Given the description of an element on the screen output the (x, y) to click on. 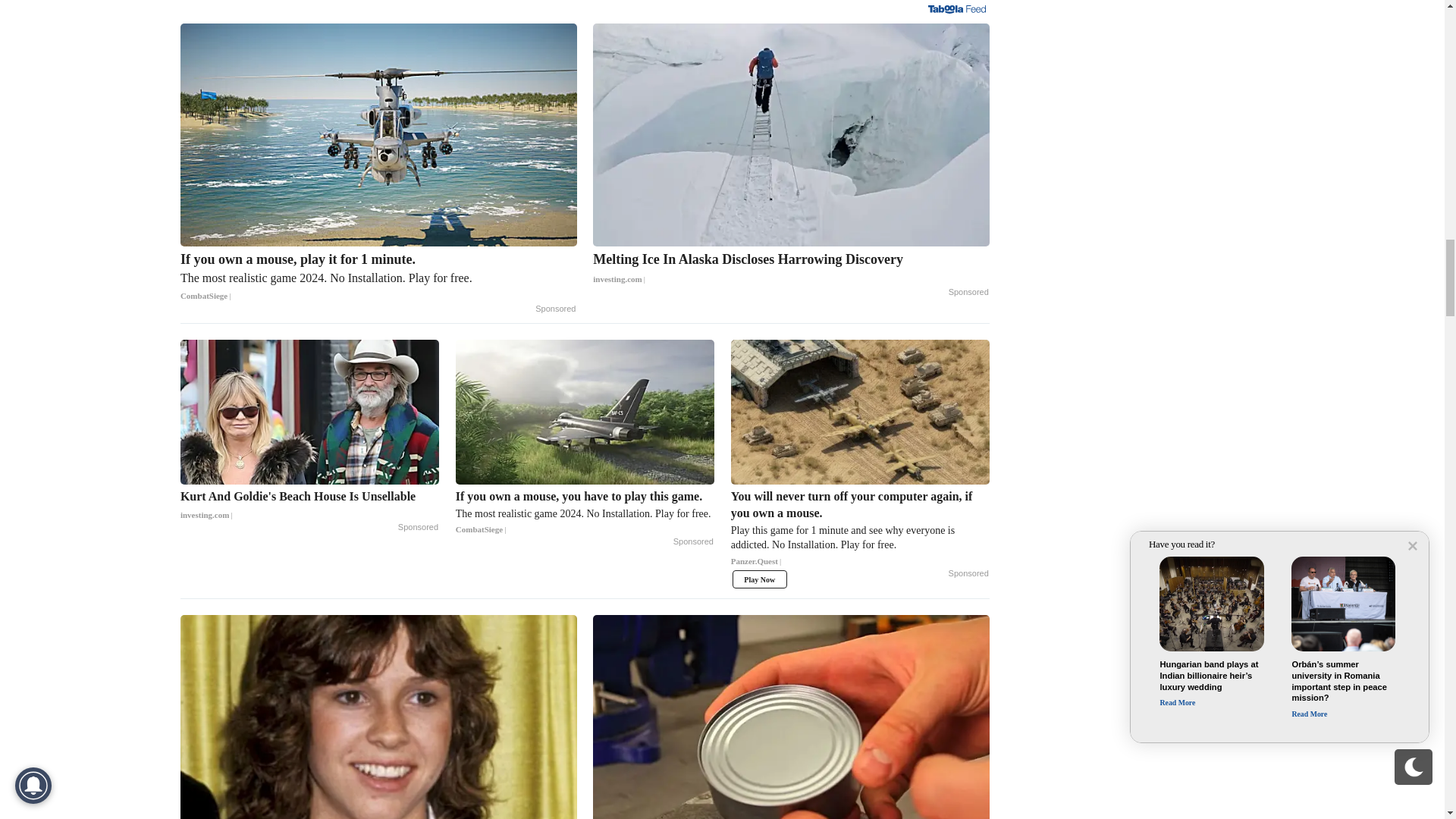
Kurt And Goldie's Beach House Is Unsellable (309, 505)
If you own a mouse, play it for 1 minute. (378, 134)
Melting Ice In Alaska Discloses Harrowing Discovery (791, 269)
Kurt And Goldie's Beach House Is Unsellable (309, 412)
If you own a mouse, play it for 1 minute. (378, 277)
Melting Ice In Alaska Discloses Harrowing Discovery (791, 134)
